Given the description of an element on the screen output the (x, y) to click on. 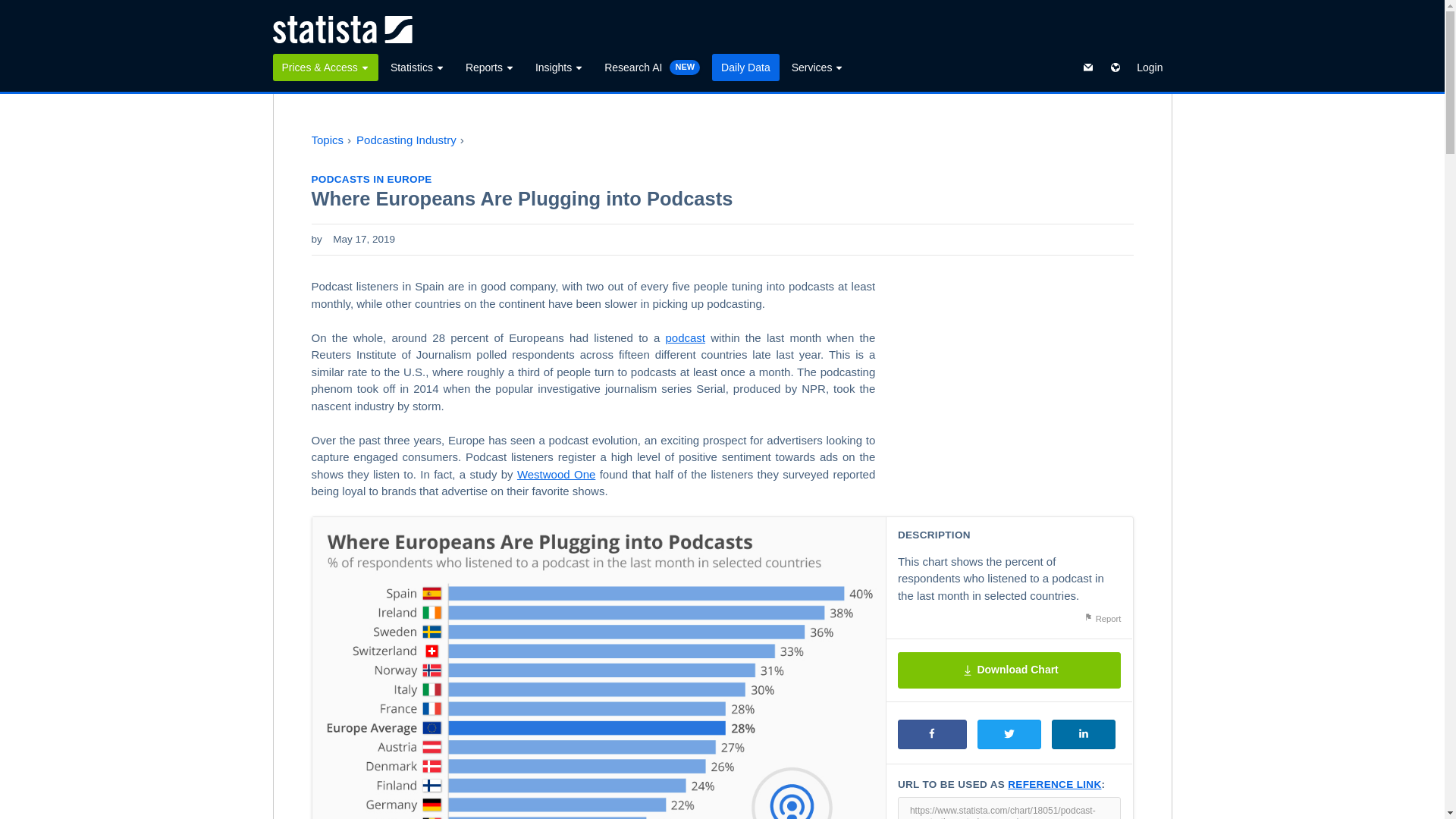
Login (1149, 67)
May 17th, 2019 (363, 239)
Report (1102, 618)
Share on Twitter (1008, 734)
Download Chart (1009, 669)
Skip to main content (12, 9)
Share on LinkedIn (1083, 734)
Login (1149, 67)
Statistics (416, 67)
Reports (489, 67)
